Given the description of an element on the screen output the (x, y) to click on. 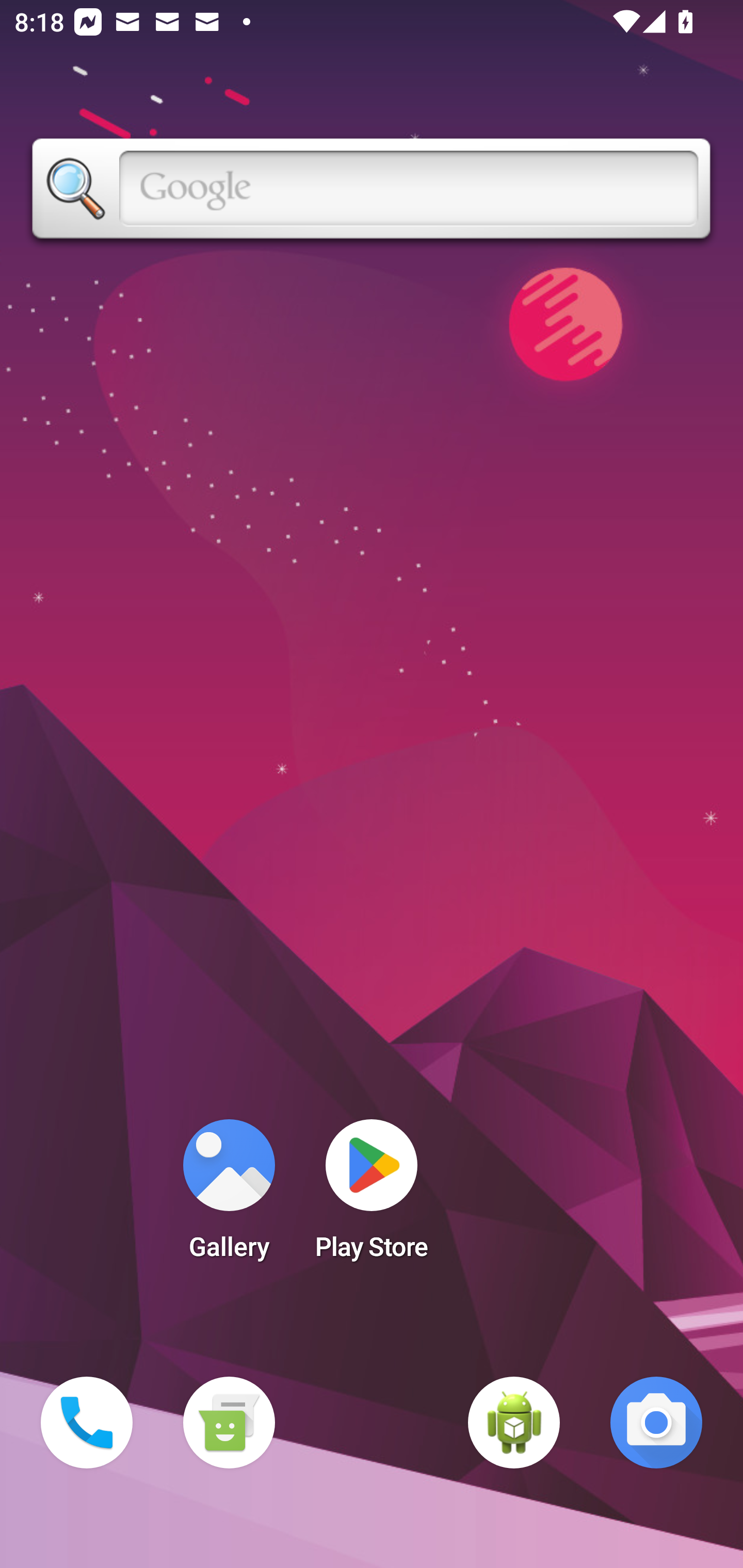
Gallery (228, 1195)
Play Store (371, 1195)
Phone (86, 1422)
Messaging (228, 1422)
WebView Browser Tester (513, 1422)
Camera (656, 1422)
